Given the description of an element on the screen output the (x, y) to click on. 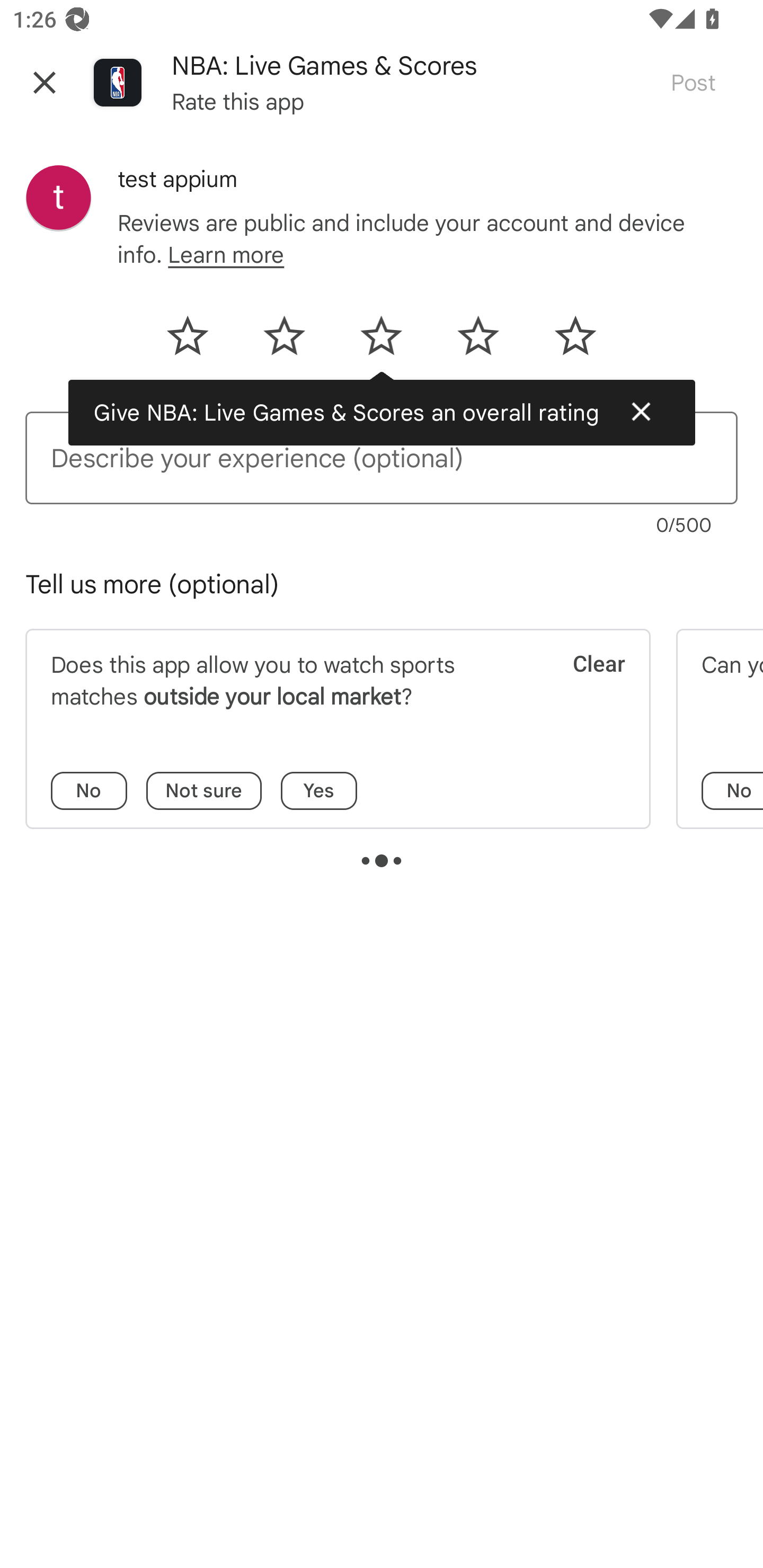
Close (44, 82)
Post (692, 81)
First star unselected (198, 341)
Second star unselected (283, 341)
Third star unselected (380, 341)
Fourth star unselected (477, 341)
Fifth star unselected (563, 341)
Close (640, 411)
Describe your experience (optional) (381, 457)
Clear (586, 685)
No (89, 790)
Not sure (203, 790)
Yes (318, 790)
No (732, 790)
